Given the description of an element on the screen output the (x, y) to click on. 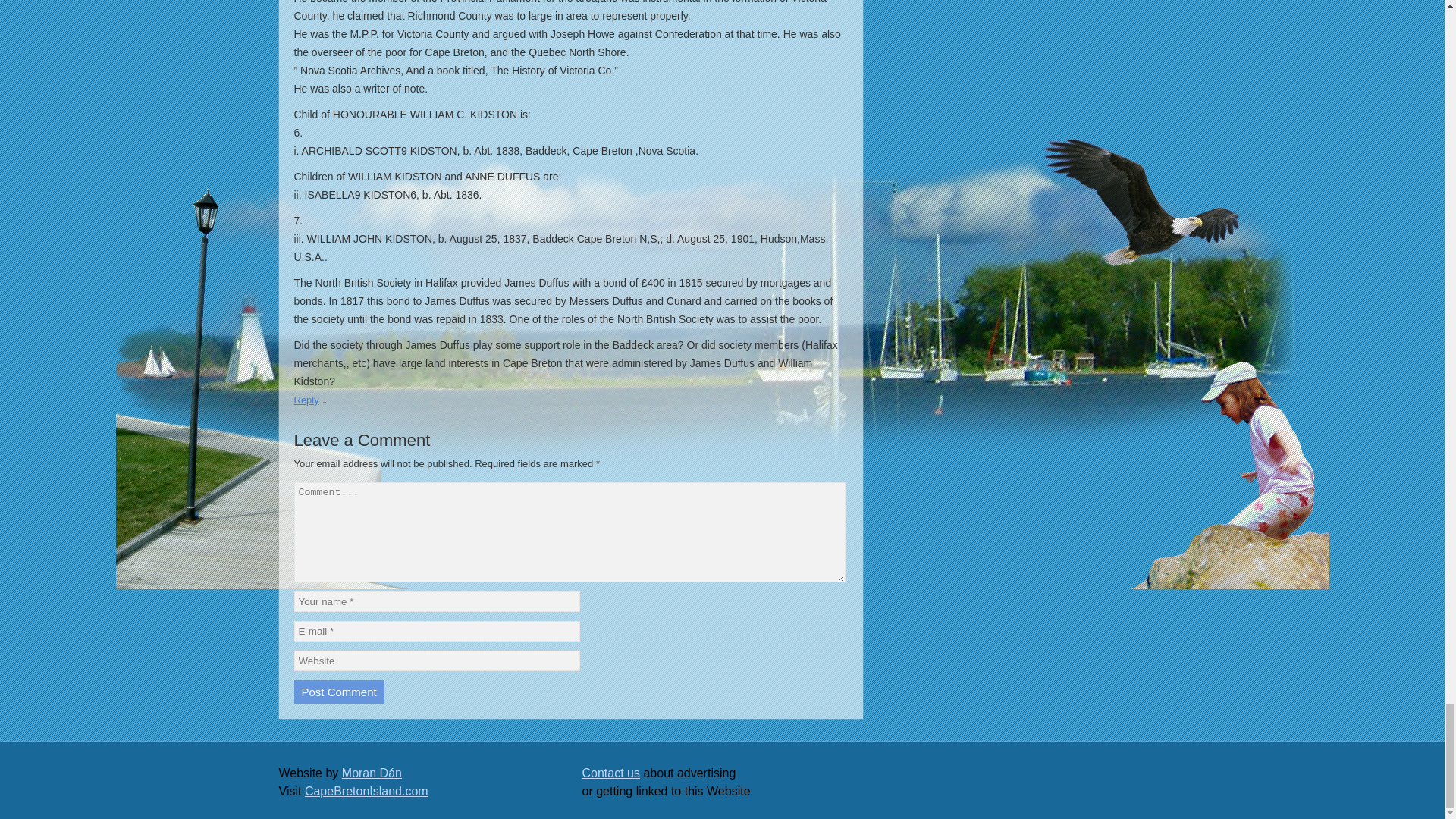
Post Comment (339, 691)
